Given the description of an element on the screen output the (x, y) to click on. 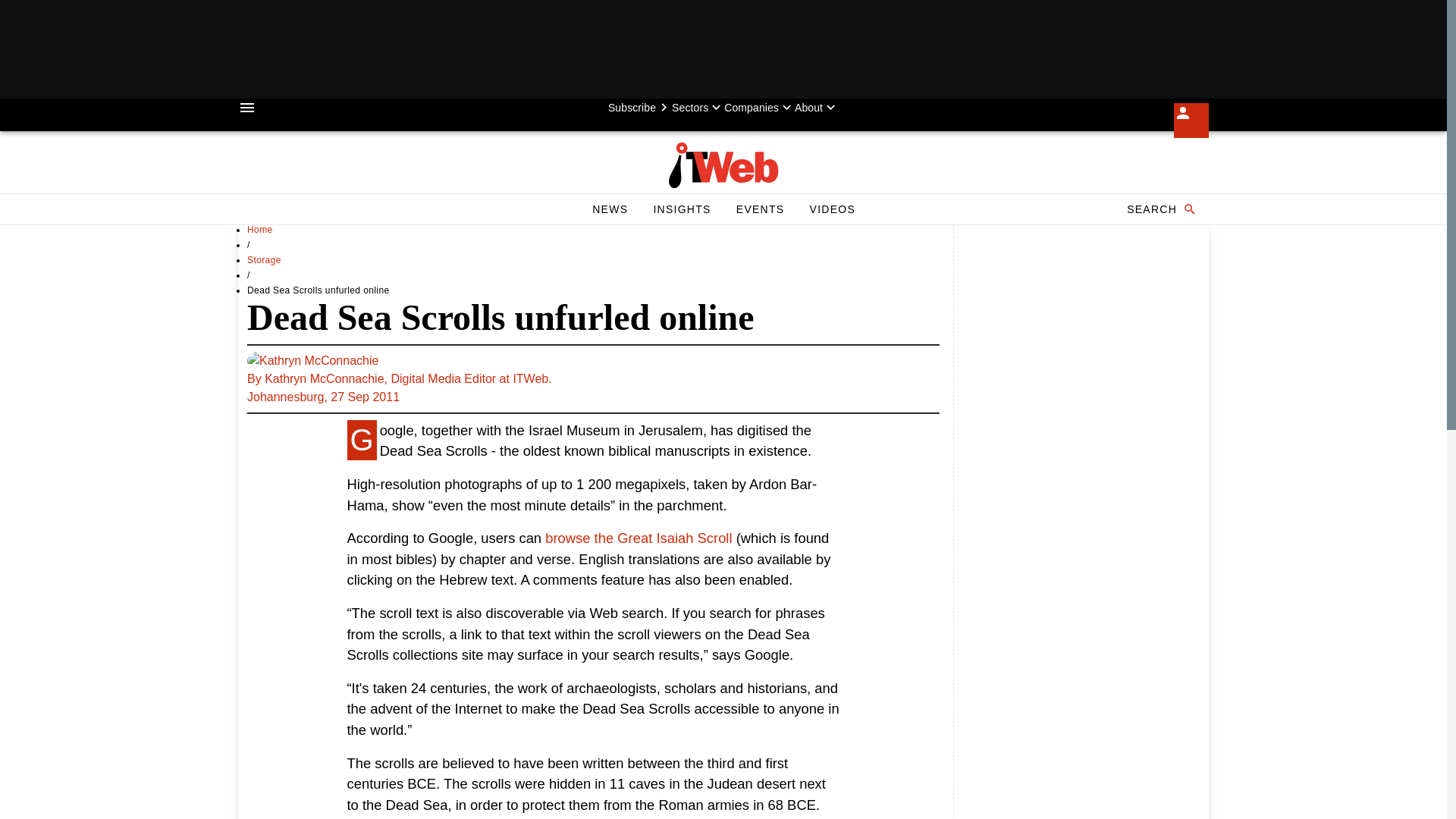
Home (260, 229)
VIDEOS (831, 208)
NEWS (609, 208)
EVENTS (759, 208)
browse the Great Isaiah Scroll (638, 537)
Storage (264, 259)
SEARCH (1160, 209)
Subscribe (639, 107)
INSIGHTS (681, 208)
